Given the description of an element on the screen output the (x, y) to click on. 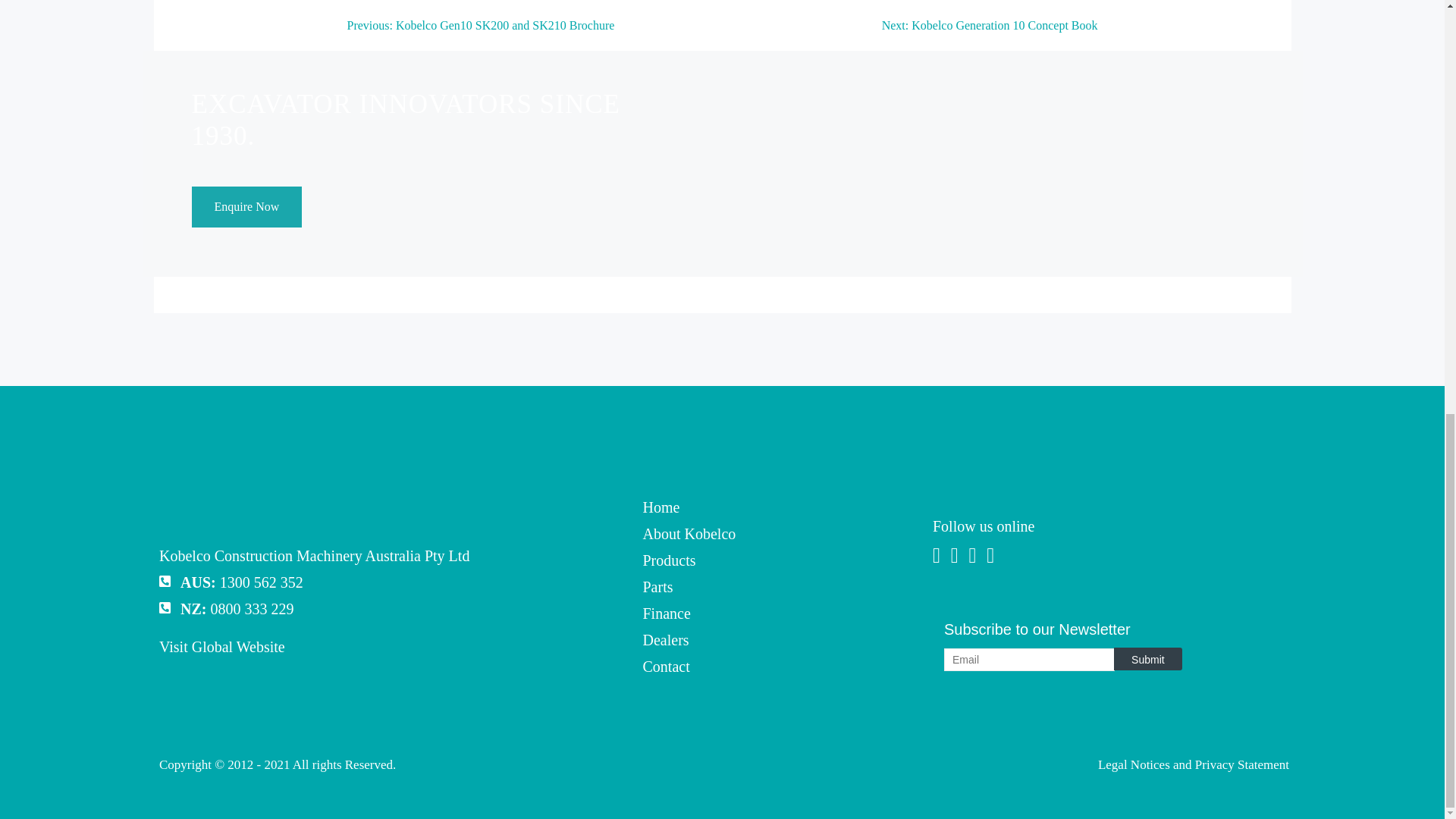
Enquire Now (245, 206)
Kobelco (212, 517)
NZ Phone Number (251, 608)
Previous: Kobelco Gen10 SK200 and SK210 Brochure (480, 30)
Submit (1147, 658)
Next: Kobelco Generation 10 Concept Book (989, 30)
AUS Phone Number (260, 582)
